Given the description of an element on the screen output the (x, y) to click on. 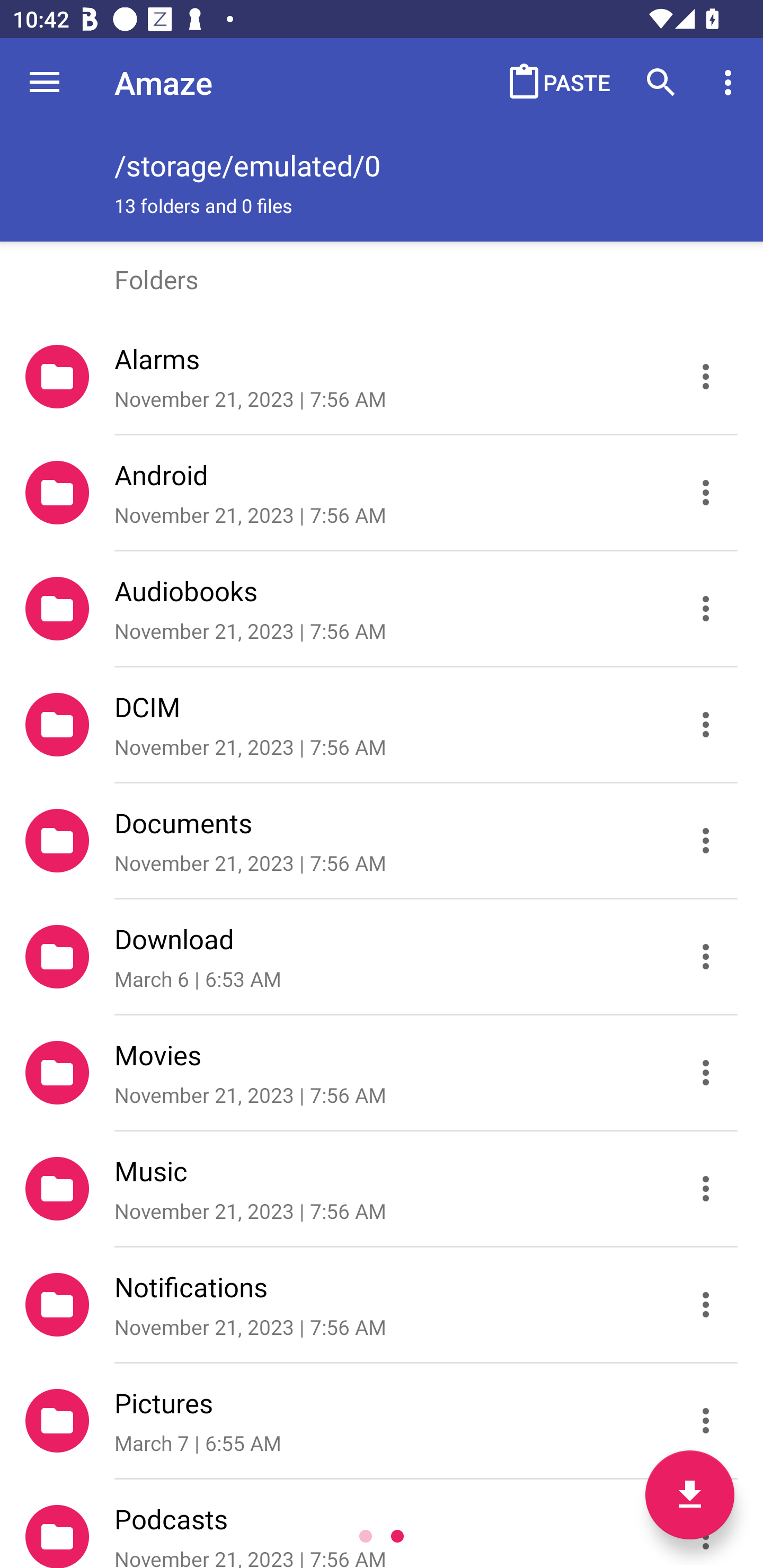
Navigate up (44, 82)
PASTE (554, 81)
Search (661, 81)
More options (731, 81)
Alarms November 21, 2023 | 7:56 AM (381, 376)
Android November 21, 2023 | 7:56 AM (381, 492)
Audiobooks November 21, 2023 | 7:56 AM (381, 608)
DCIM November 21, 2023 | 7:56 AM (381, 724)
Documents November 21, 2023 | 7:56 AM (381, 841)
Download March 6 | 6:53 AM (381, 957)
Movies November 21, 2023 | 7:56 AM (381, 1073)
Music November 21, 2023 | 7:56 AM (381, 1189)
Notifications November 21, 2023 | 7:56 AM (381, 1305)
Pictures March 7 | 6:55 AM (381, 1421)
Podcasts November 21, 2023 | 7:56 AM (381, 1524)
